Given the description of an element on the screen output the (x, y) to click on. 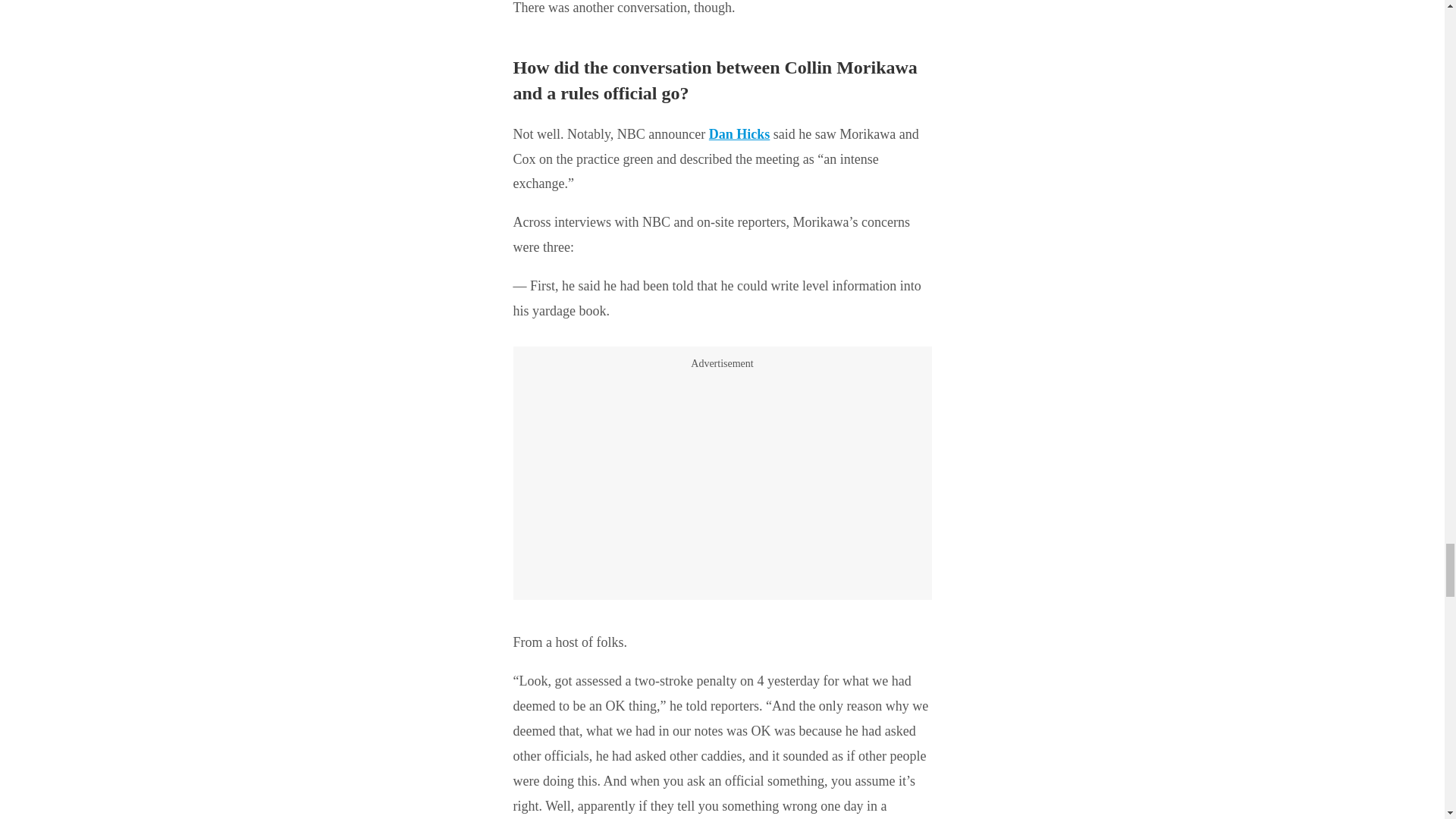
Dan Hicks (739, 133)
